Given the description of an element on the screen output the (x, y) to click on. 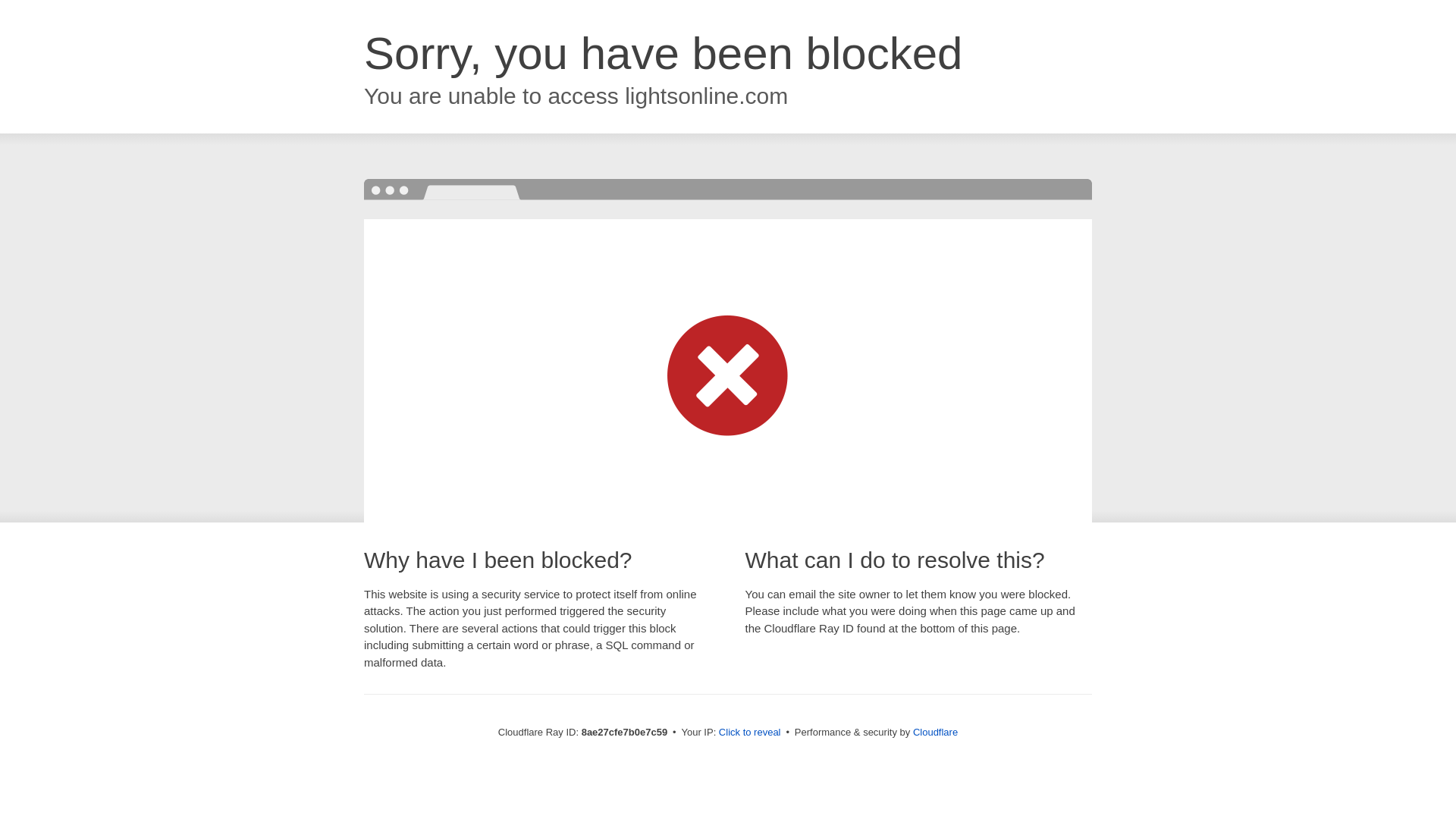
Click to reveal (749, 732)
Cloudflare (935, 731)
